Given the description of an element on the screen output the (x, y) to click on. 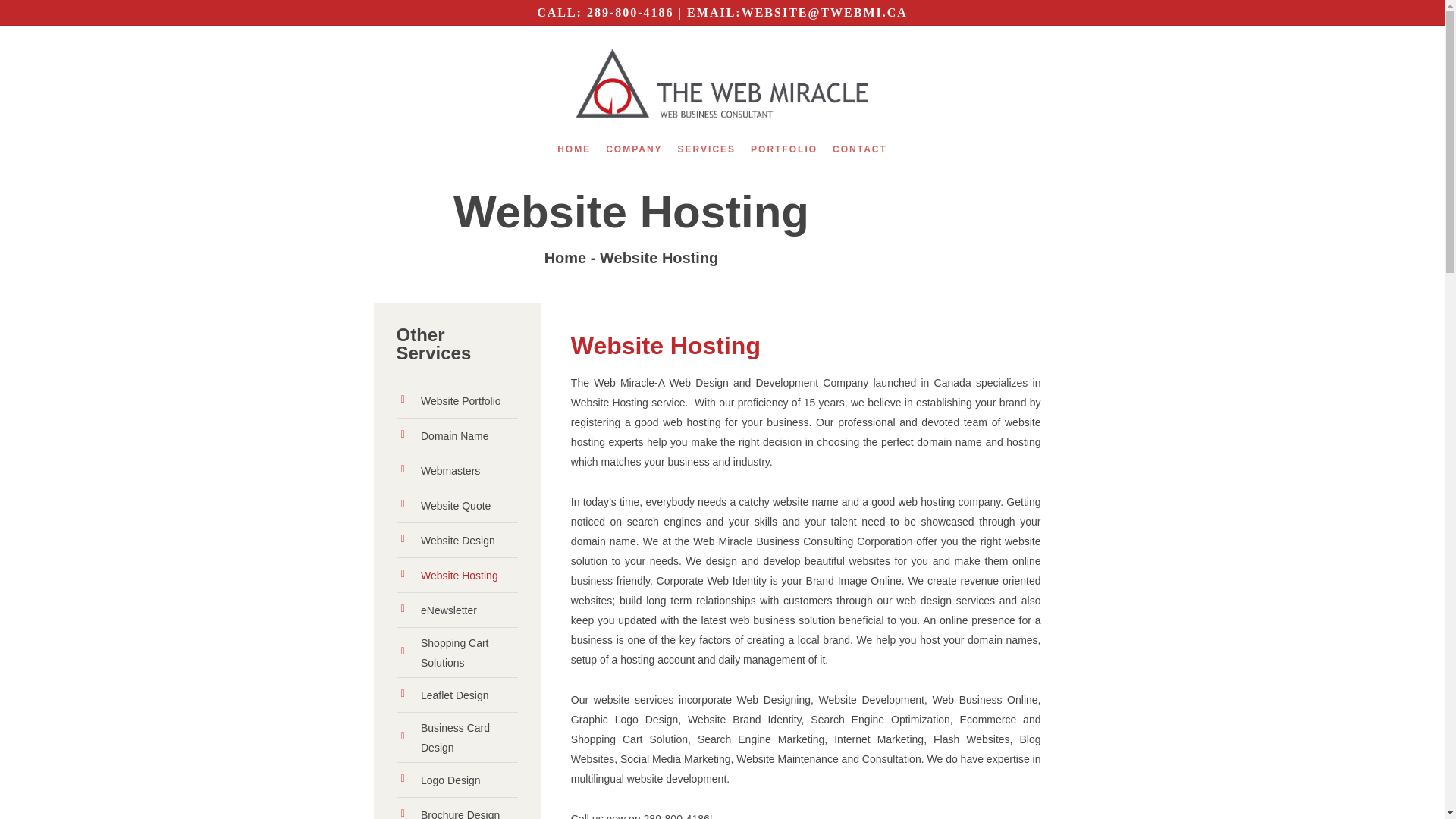
Brochure Design (456, 811)
Shopping Cart Solutions (456, 652)
SERVICES (706, 156)
Logo Design (456, 780)
289-800-4186 (630, 11)
Website Hosting (456, 575)
Business Card Design (456, 737)
HOME (574, 156)
Leaflet Design (456, 695)
Website Hosting (658, 257)
eNewsletter (456, 610)
COMPANY (633, 156)
PORTFOLIO (783, 156)
Website Design (456, 540)
Website Portfolio (456, 401)
